Given the description of an element on the screen output the (x, y) to click on. 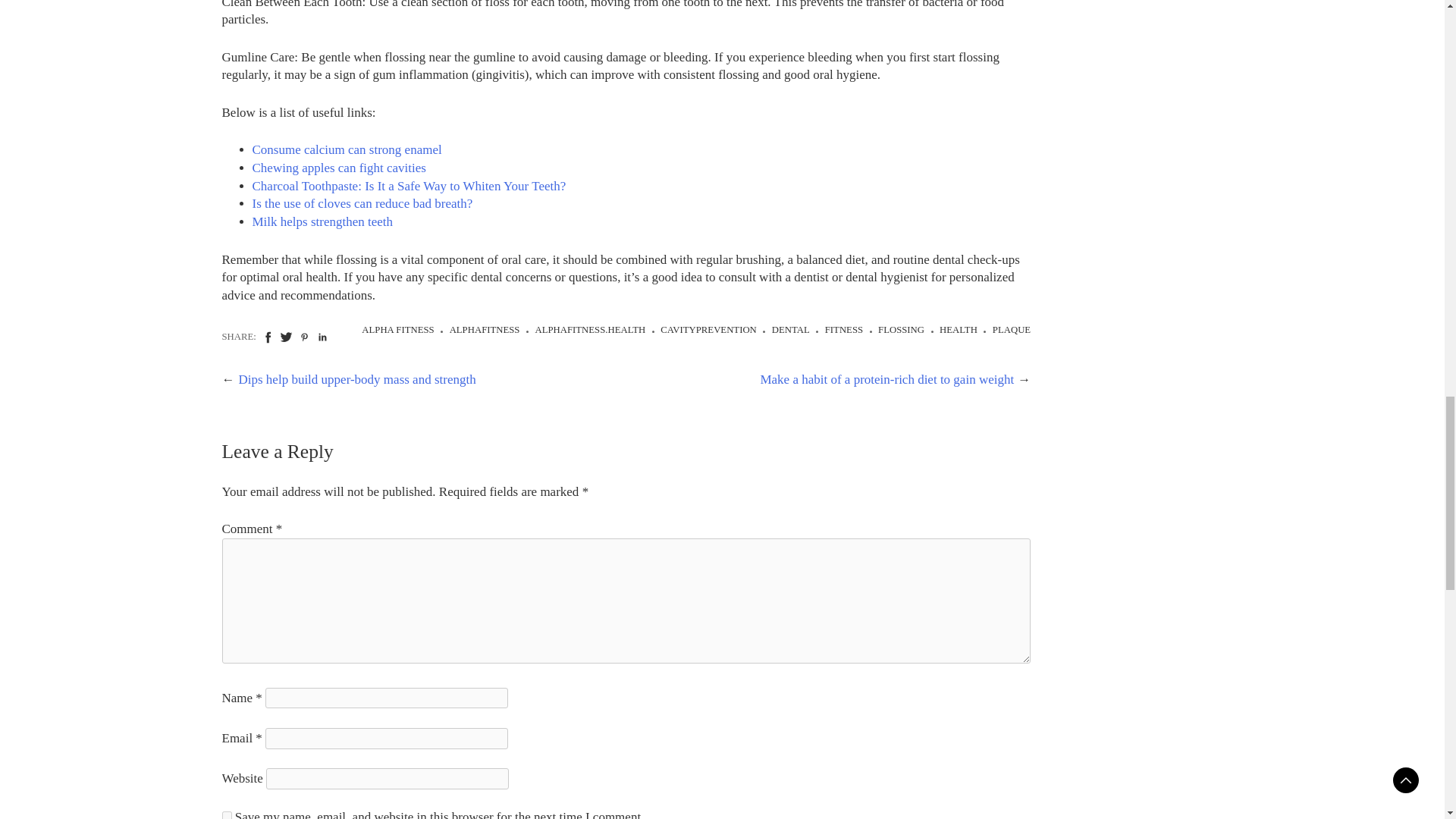
yes (226, 815)
